Given the description of an element on the screen output the (x, y) to click on. 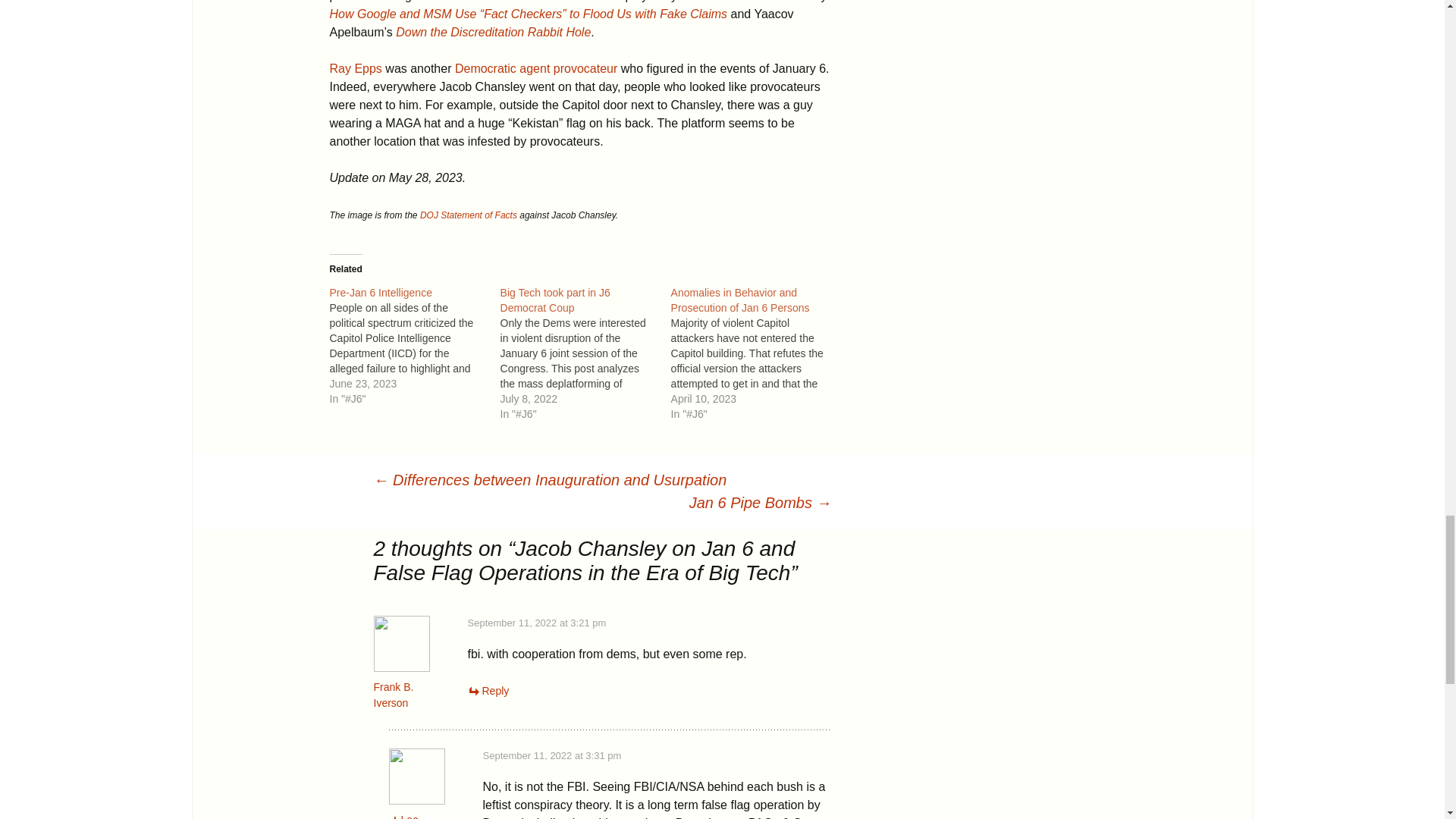
Big Tech took part in J6 Democrat Coup (555, 299)
Anomalies in Behavior and Prosecution of Jan 6 Persons (740, 299)
Big Tech took part in J6 Democrat Coup (585, 353)
Anomalies in Behavior and Prosecution of Jan 6 Persons (756, 353)
Pre-Jan 6 Intelligence (414, 345)
Pre-Jan 6 Intelligence (379, 292)
